Given the description of an element on the screen output the (x, y) to click on. 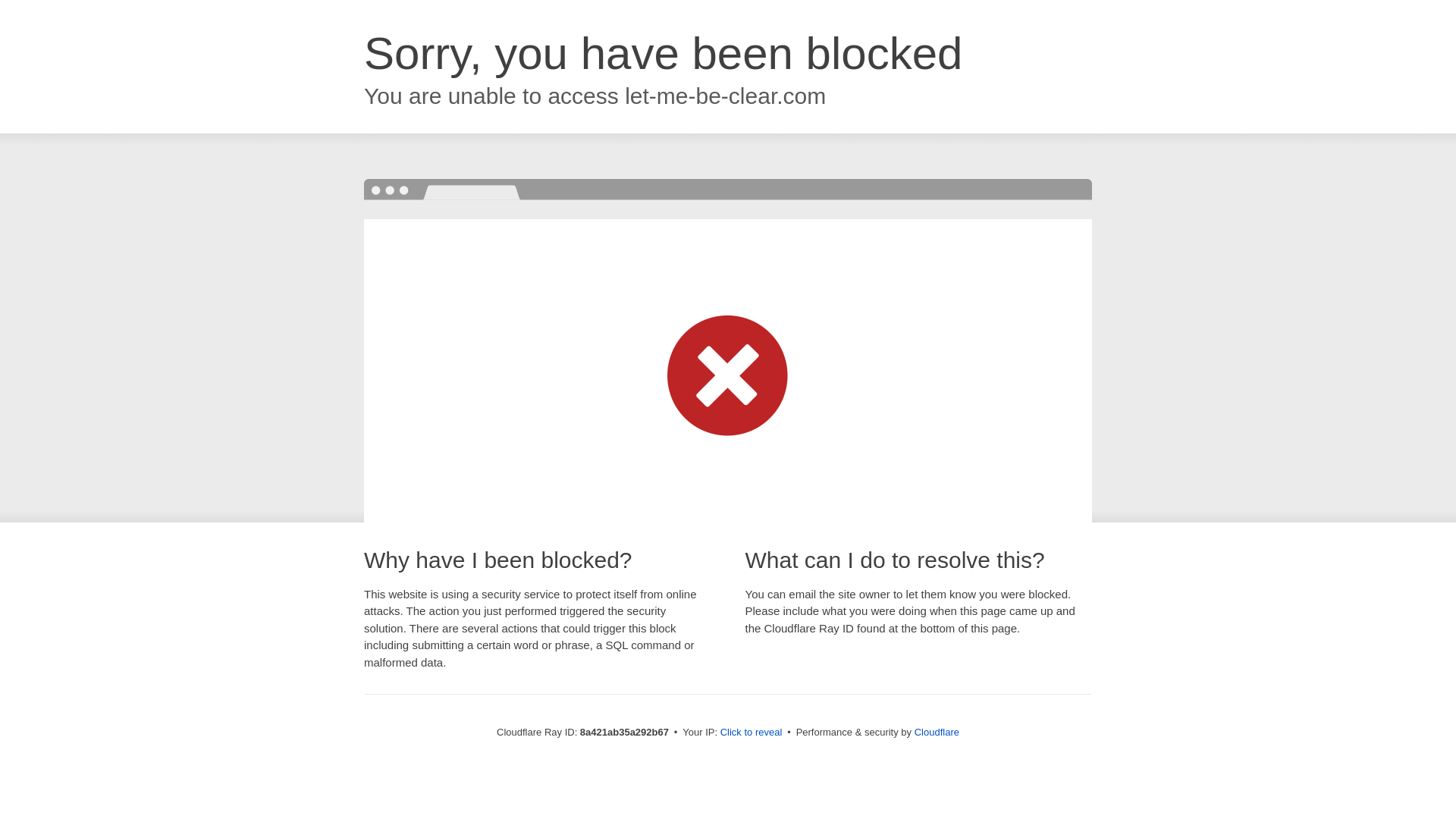
Cloudflare (936, 731)
Click to reveal (751, 732)
